Given the description of an element on the screen output the (x, y) to click on. 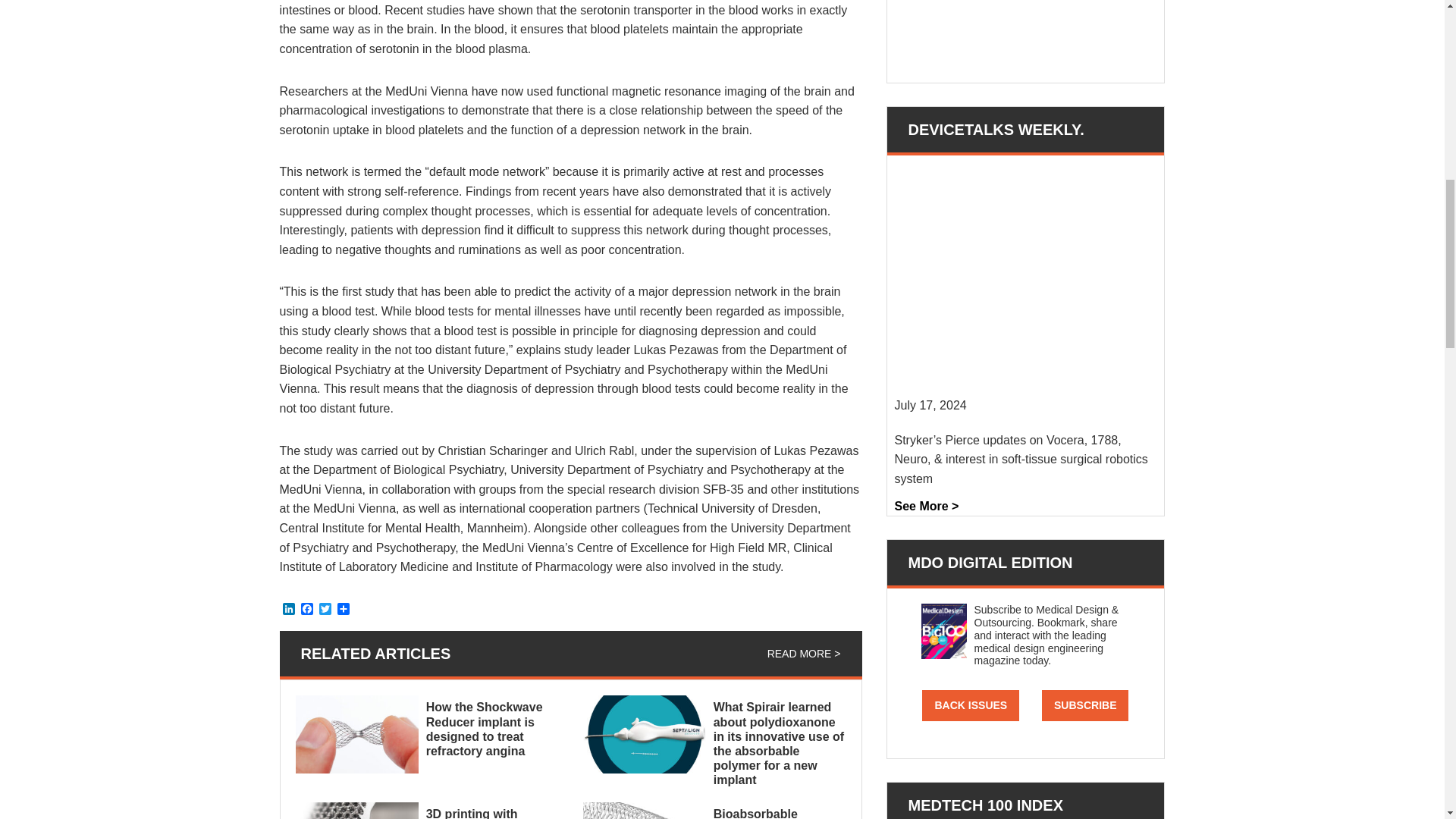
Facebook (306, 609)
LinkedIn (288, 609)
Twitter (324, 609)
3rd party ad content (1024, 33)
